Given the description of an element on the screen output the (x, y) to click on. 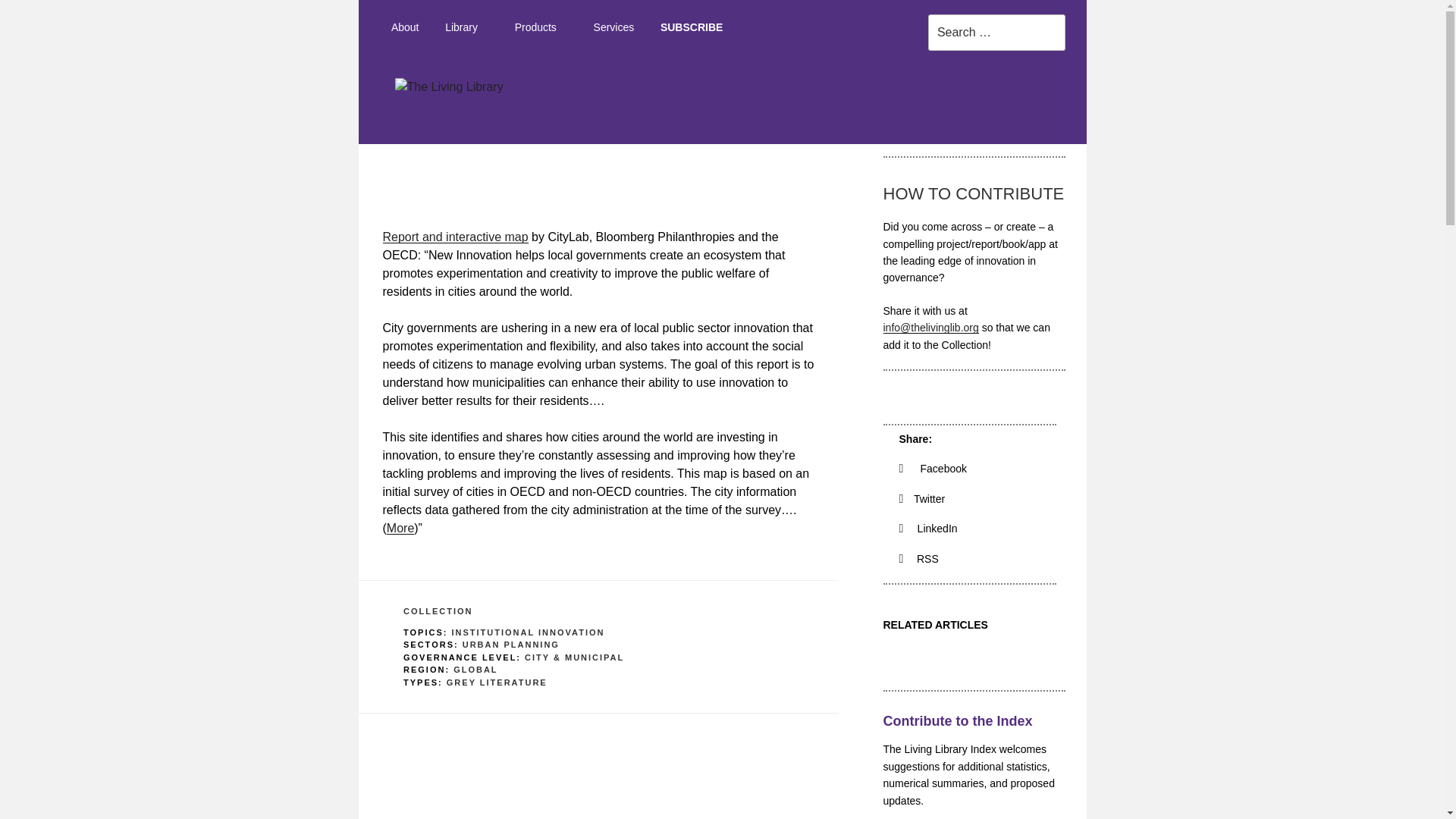
RSS (919, 558)
GREY LITERATURE (496, 682)
INSTITUTIONAL INNOVATION (527, 632)
Library (466, 27)
Report and interactive map (454, 236)
URBAN PLANNING (511, 644)
SUBSCRIBE (692, 27)
October 30, 2019 (467, 197)
Services (612, 27)
  Facebook (933, 468)
